Given the description of an element on the screen output the (x, y) to click on. 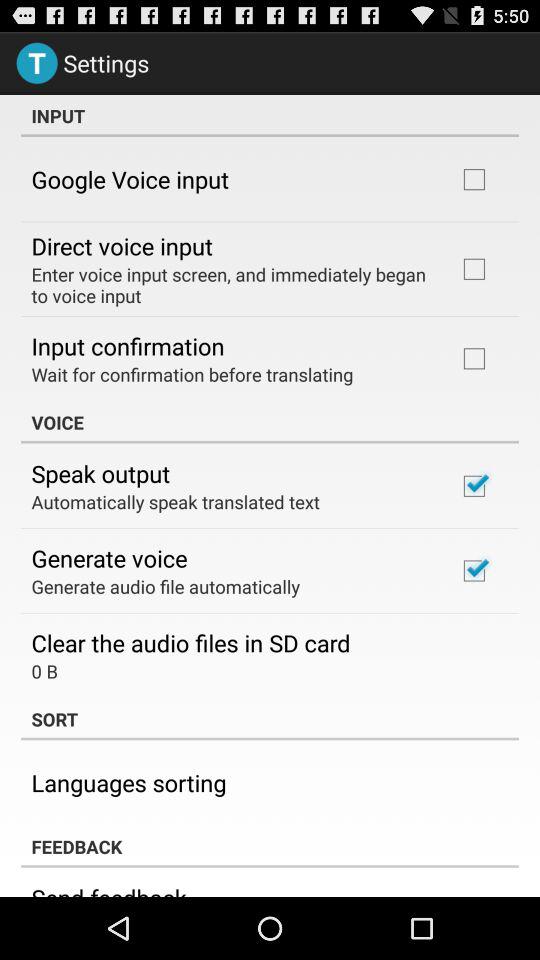
choose app above automatically speak translated icon (100, 473)
